Given the description of an element on the screen output the (x, y) to click on. 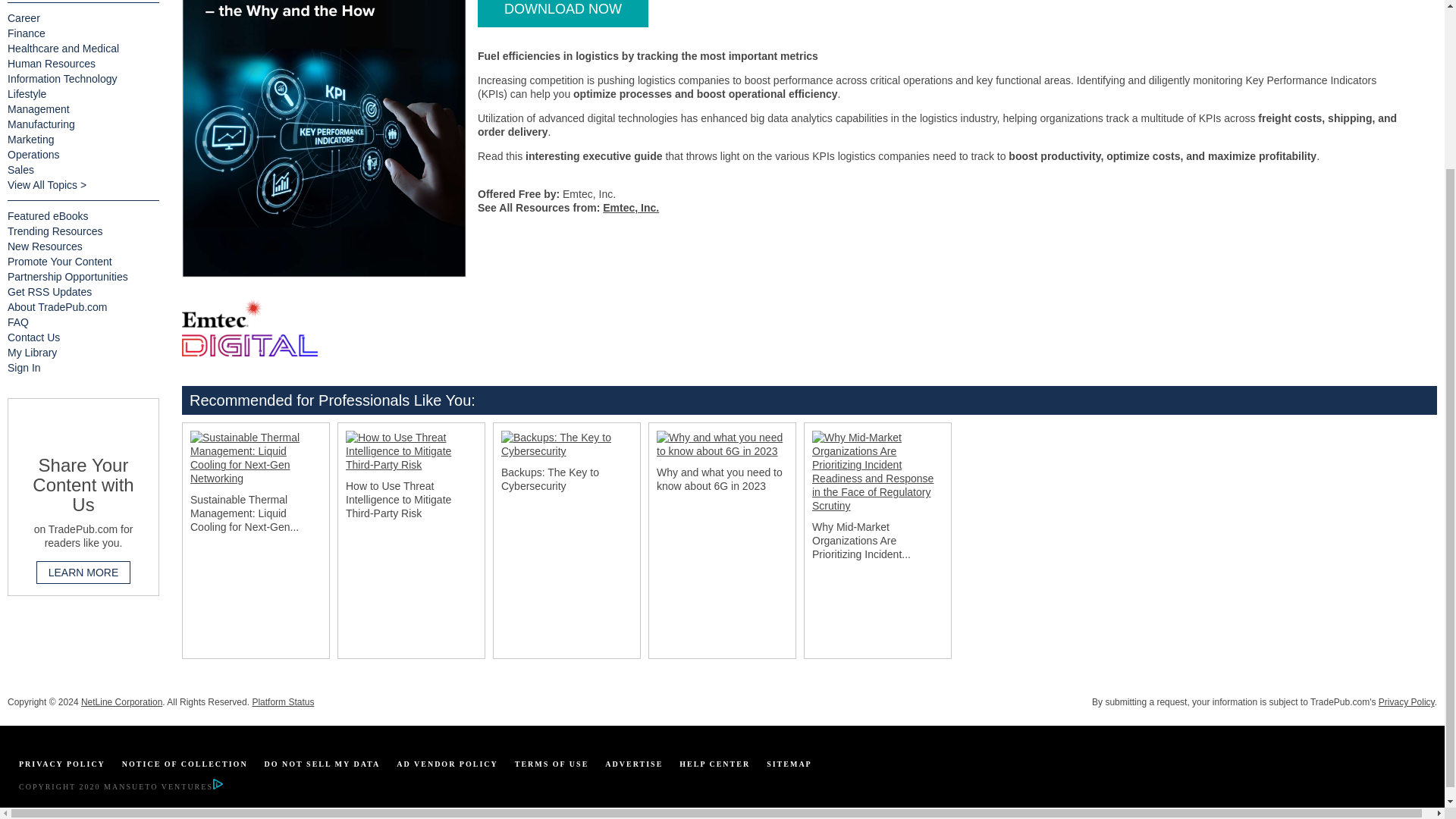
Get more information about Ad vendor policy on Inc.com (446, 764)
Get more information about sitemap on Inc.com (789, 764)
Get more information about Advertise on Inc.com (633, 764)
Get more information about do not sell my data on Inc.com (322, 764)
Get more information about Notice of collection on Inc.com (184, 764)
Read more about your Ad Choices (217, 786)
Get more information about Privacy policy on Inc.com (61, 764)
Get more information about help Center on Inc.com (714, 764)
Get more information about terms of use on Inc.com (552, 764)
